Given the description of an element on the screen output the (x, y) to click on. 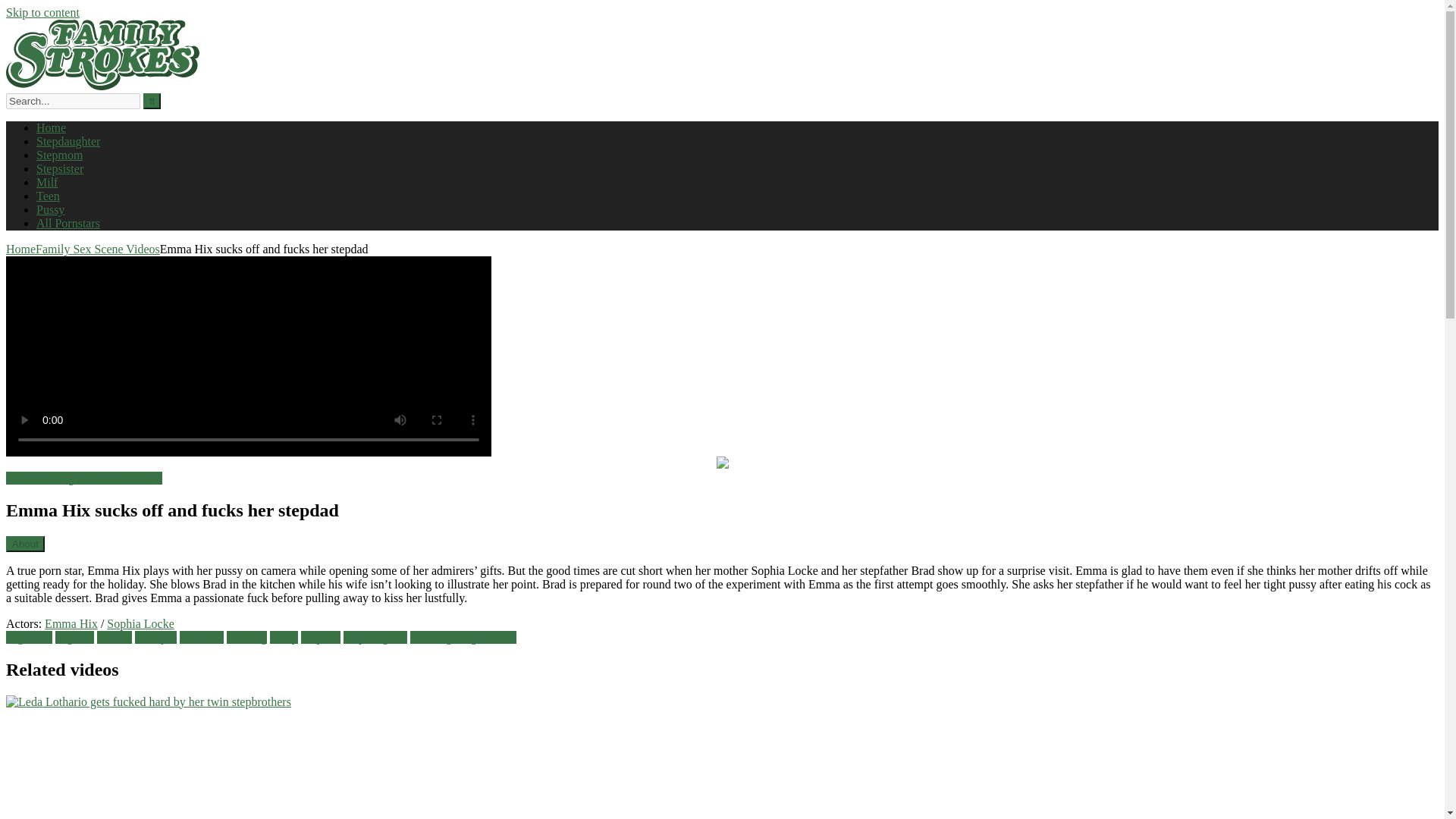
Big Tits (74, 636)
Skip to content (42, 11)
Leda Lothario gets fucked hard by her twin stepbrothers (244, 757)
Fucking (246, 636)
Thanksgiving Dessert (463, 636)
Milf (47, 182)
Cumshot (201, 636)
Pussy (283, 636)
Blowjob (155, 636)
Search... (72, 100)
Family Sex Scene Videos (97, 248)
Fucking (246, 636)
All Pornstars (68, 223)
Big Cock (28, 636)
Sophia Locke (139, 623)
